Given the description of an element on the screen output the (x, y) to click on. 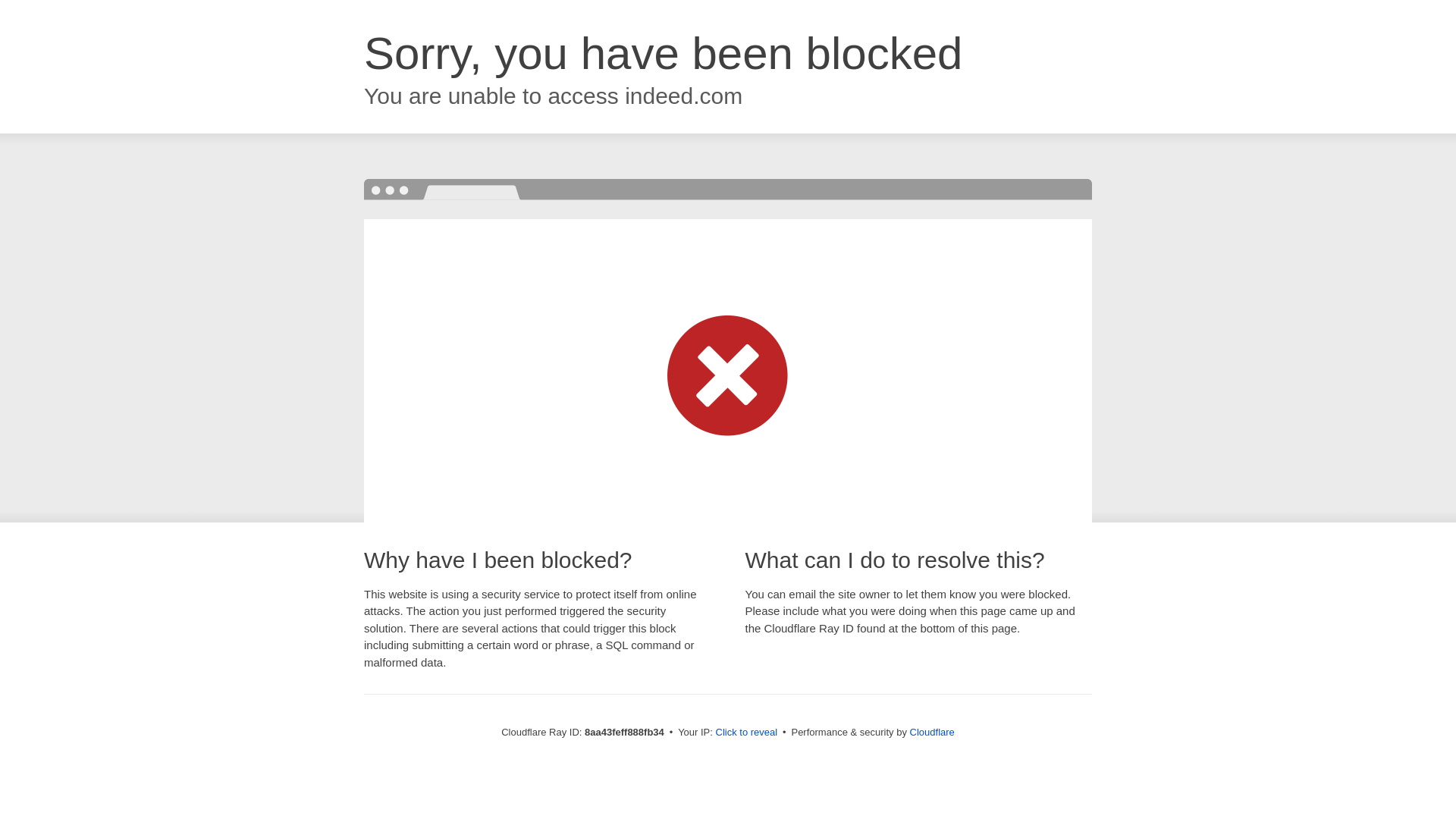
Cloudflare (932, 731)
Click to reveal (746, 732)
